Given the description of an element on the screen output the (x, y) to click on. 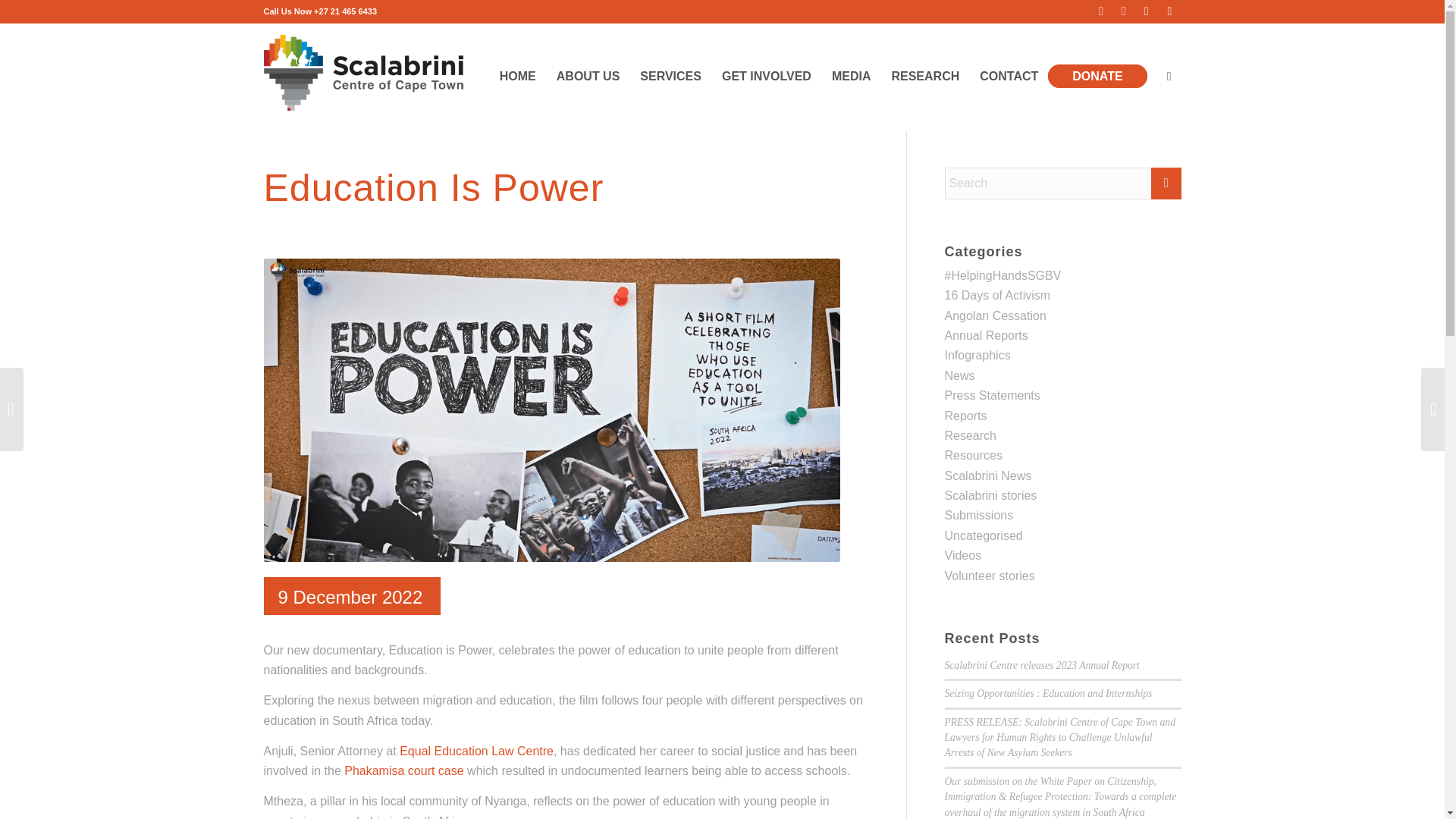
DONATE (1102, 76)
Equal Education Law Centre (475, 750)
GET INVOLVED (766, 76)
Click to start search (1165, 183)
Phakamisa court case (403, 770)
Instagram (1169, 11)
Facebook (1101, 11)
X (1124, 11)
LinkedIn (1146, 11)
